Given the description of an element on the screen output the (x, y) to click on. 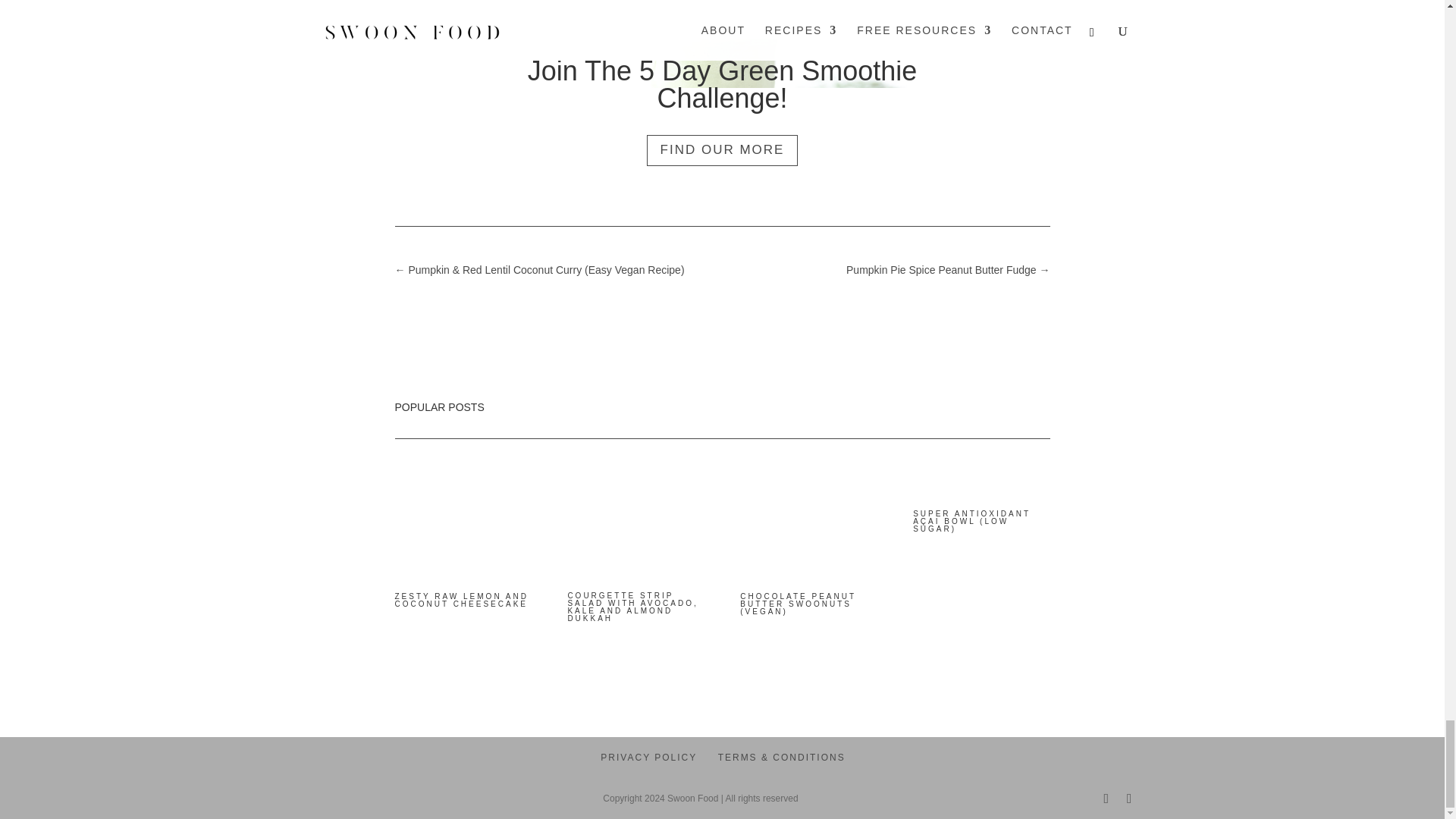
FIND OUR MORE (721, 163)
ZESTY RAW LEMON AND COCONUT CHEESECAKE (460, 600)
Join The 5 Day Green Smoothie Challenge! (722, 97)
COURGETTE STRIP SALAD WITH AVOCADO, KALE AND ALMOND DUKKAH (632, 606)
